Given the description of an element on the screen output the (x, y) to click on. 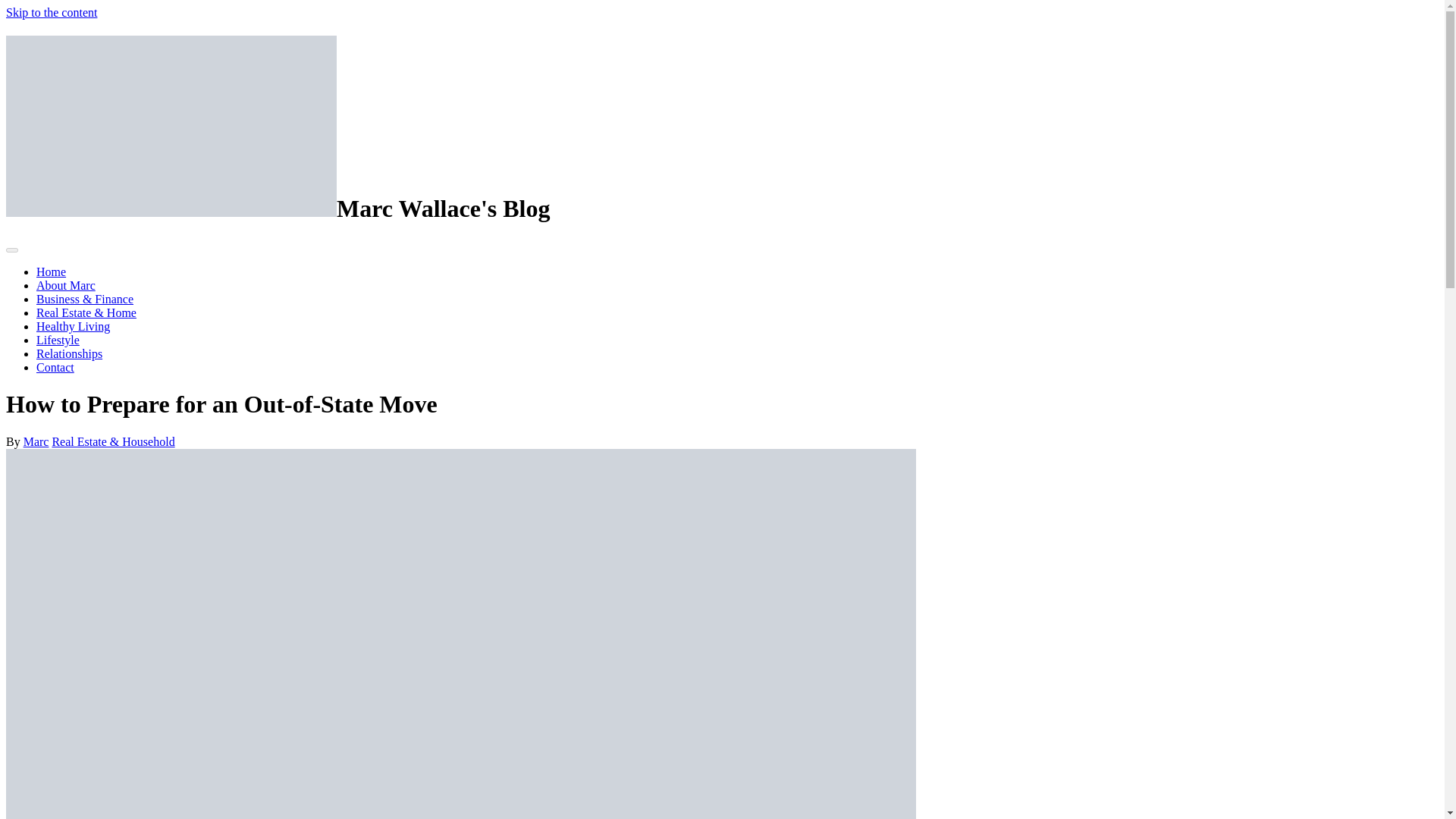
Skip to the content (51, 11)
Relationships (68, 353)
About Marc (66, 285)
Healthy Living (73, 326)
Lifestyle (58, 339)
Home (50, 271)
Contact (55, 367)
Marc (36, 440)
